Given the description of an element on the screen output the (x, y) to click on. 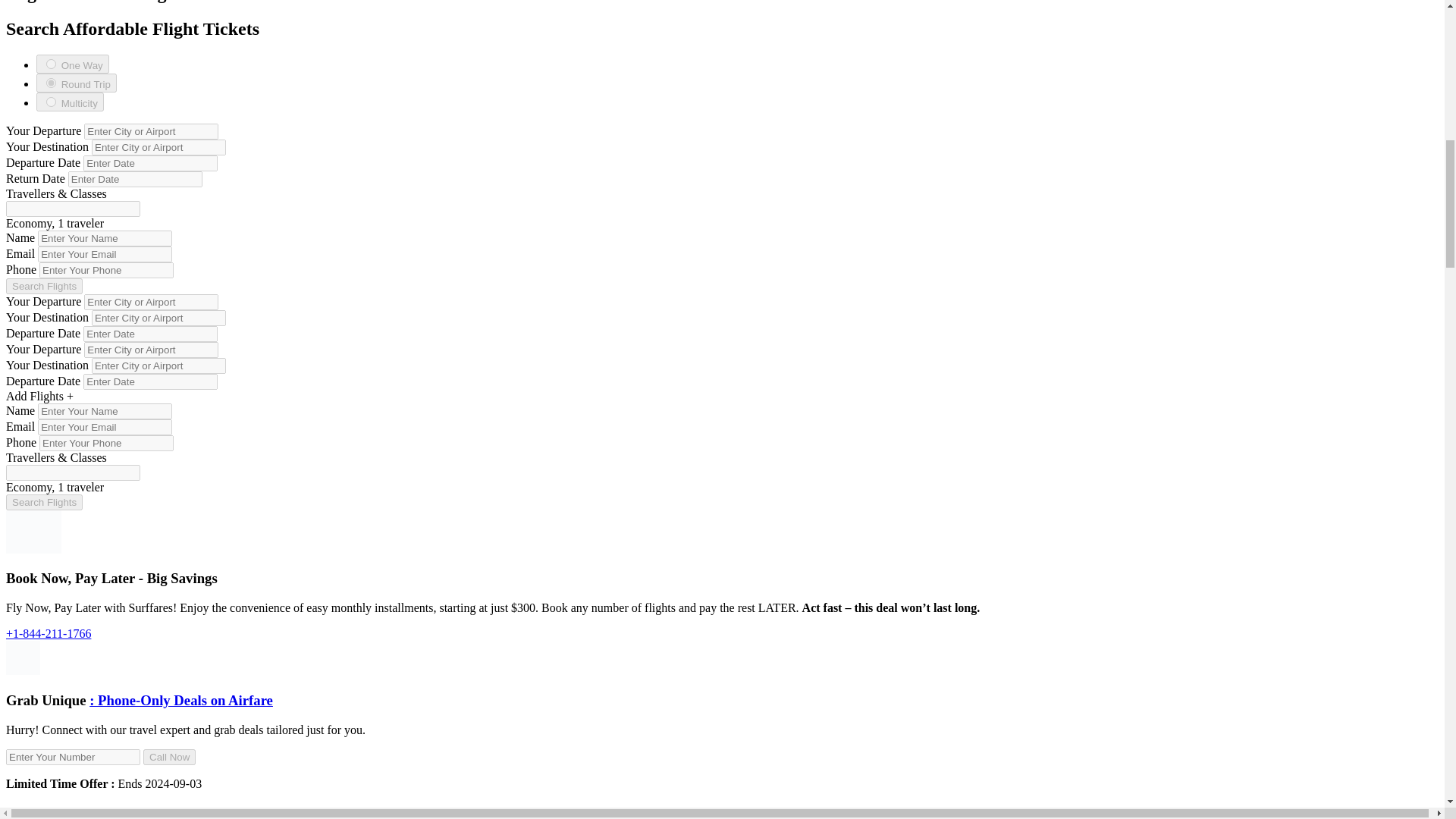
One Way (72, 63)
Multicity (69, 101)
: Phone-Only Deals on Airfare (180, 700)
Call Now (168, 756)
Search Flights (43, 502)
Search Flights (43, 286)
2 (51, 82)
Search Flights (43, 286)
1 (51, 63)
Round Trip (76, 82)
